Given the description of an element on the screen output the (x, y) to click on. 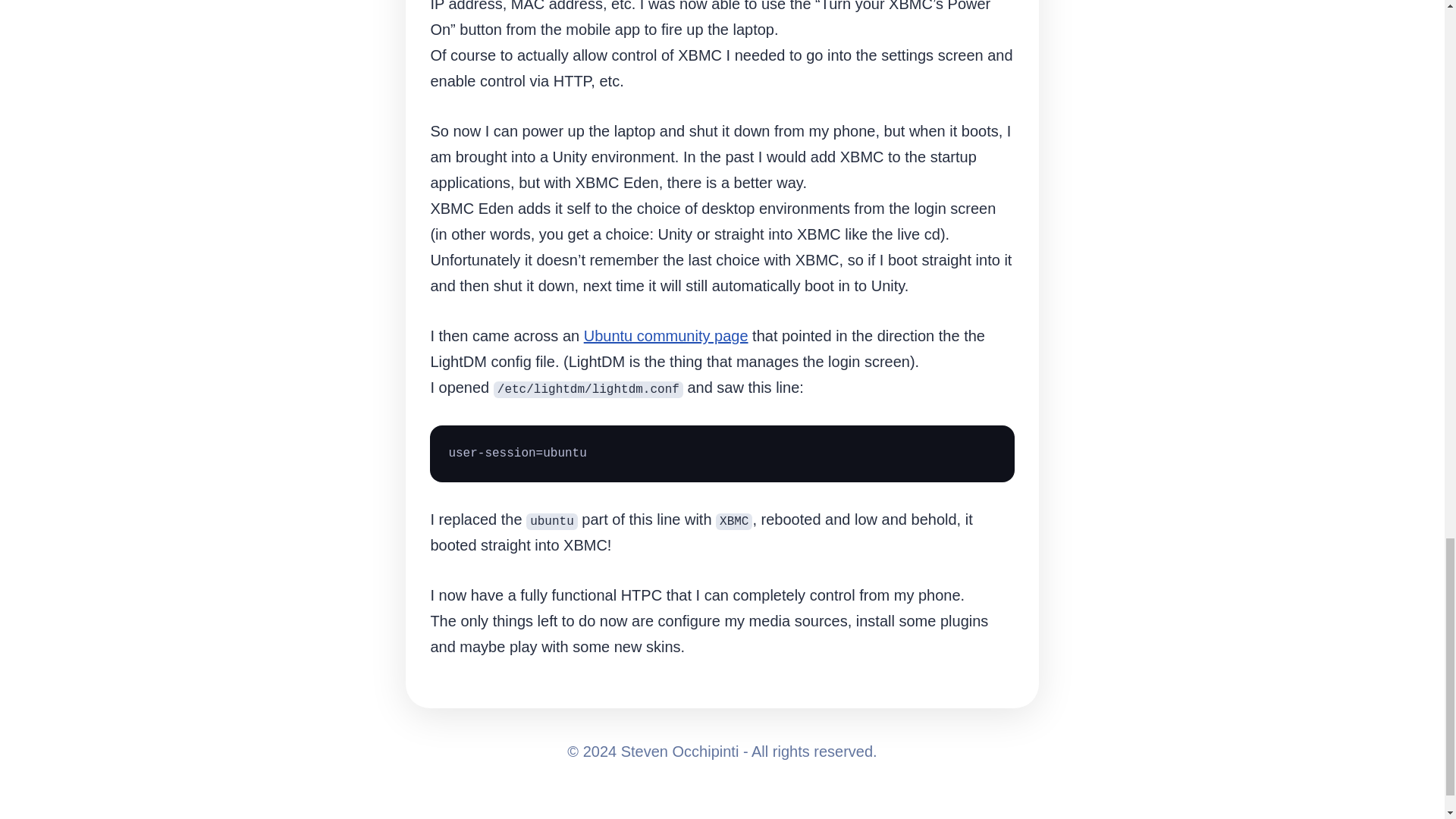
Ubuntu community page (665, 335)
